Given the description of an element on the screen output the (x, y) to click on. 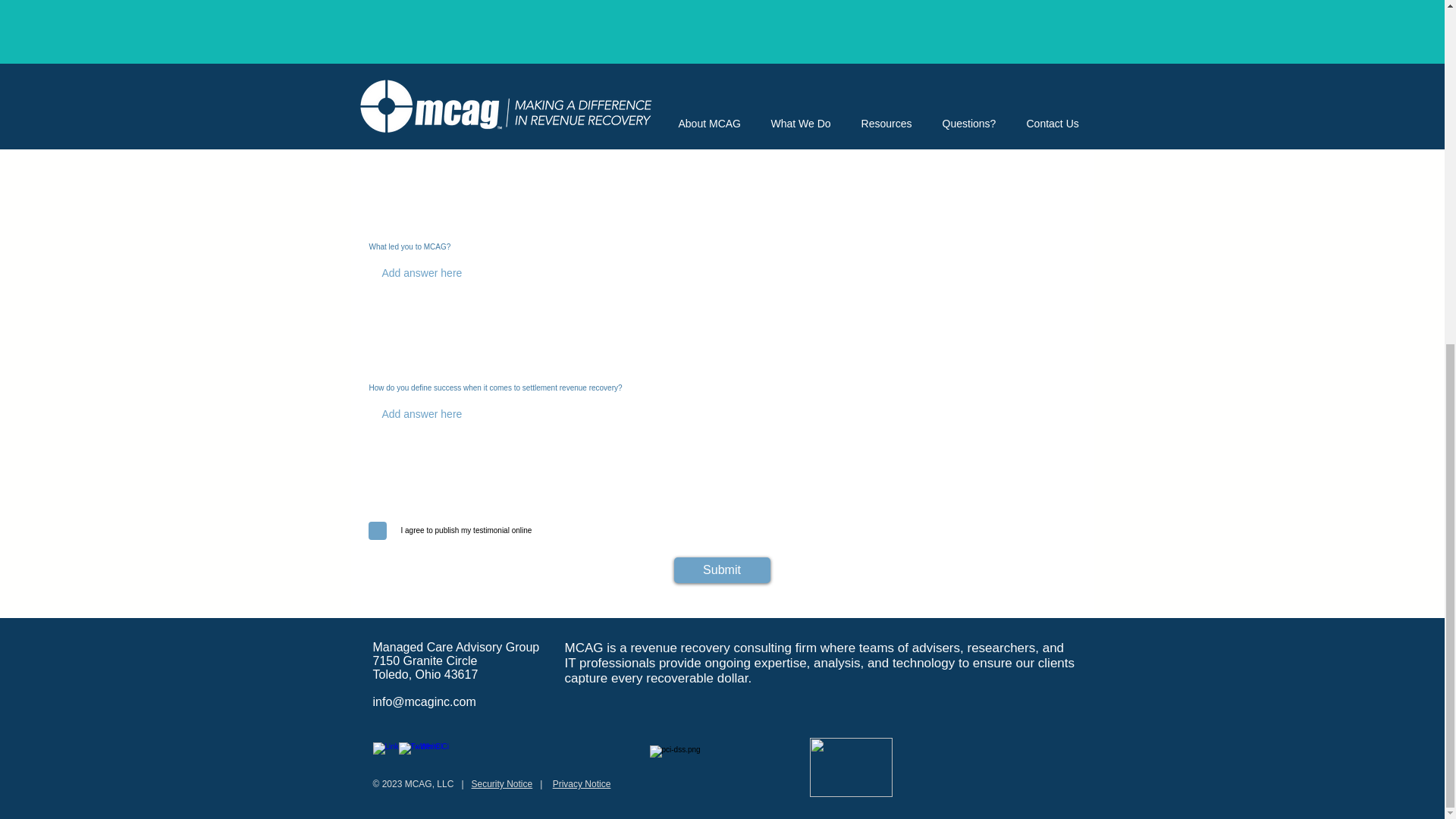
Submit (721, 570)
Privacy Notice (582, 783)
Security Notice (501, 783)
